Given the description of an element on the screen output the (x, y) to click on. 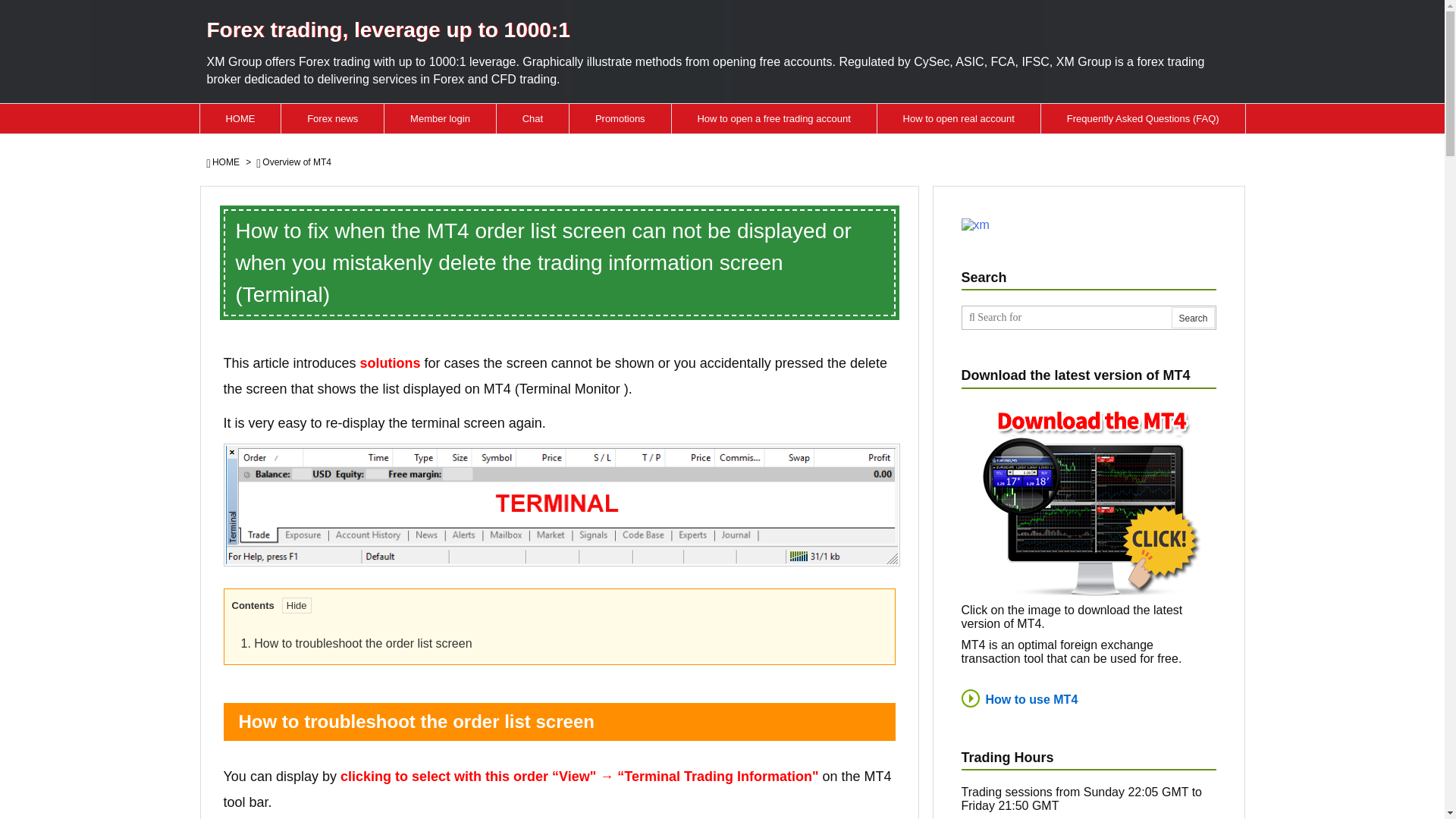
Overview of MT4 (296, 162)
Promotions (620, 118)
How to open real account (958, 118)
1. How to troubleshoot the order list screen (356, 643)
How to open a free trading account (773, 118)
Search (1193, 317)
Forex trading, leverage up to 1000:1 (387, 29)
Search (1193, 317)
XM official website (558, 505)
Forex news (332, 118)
Chat (532, 118)
How to use MT4 (1019, 698)
Download the latest version of MT4 (1088, 499)
How to Open a Free Trading Account (773, 118)
Search (1193, 317)
